Given the description of an element on the screen output the (x, y) to click on. 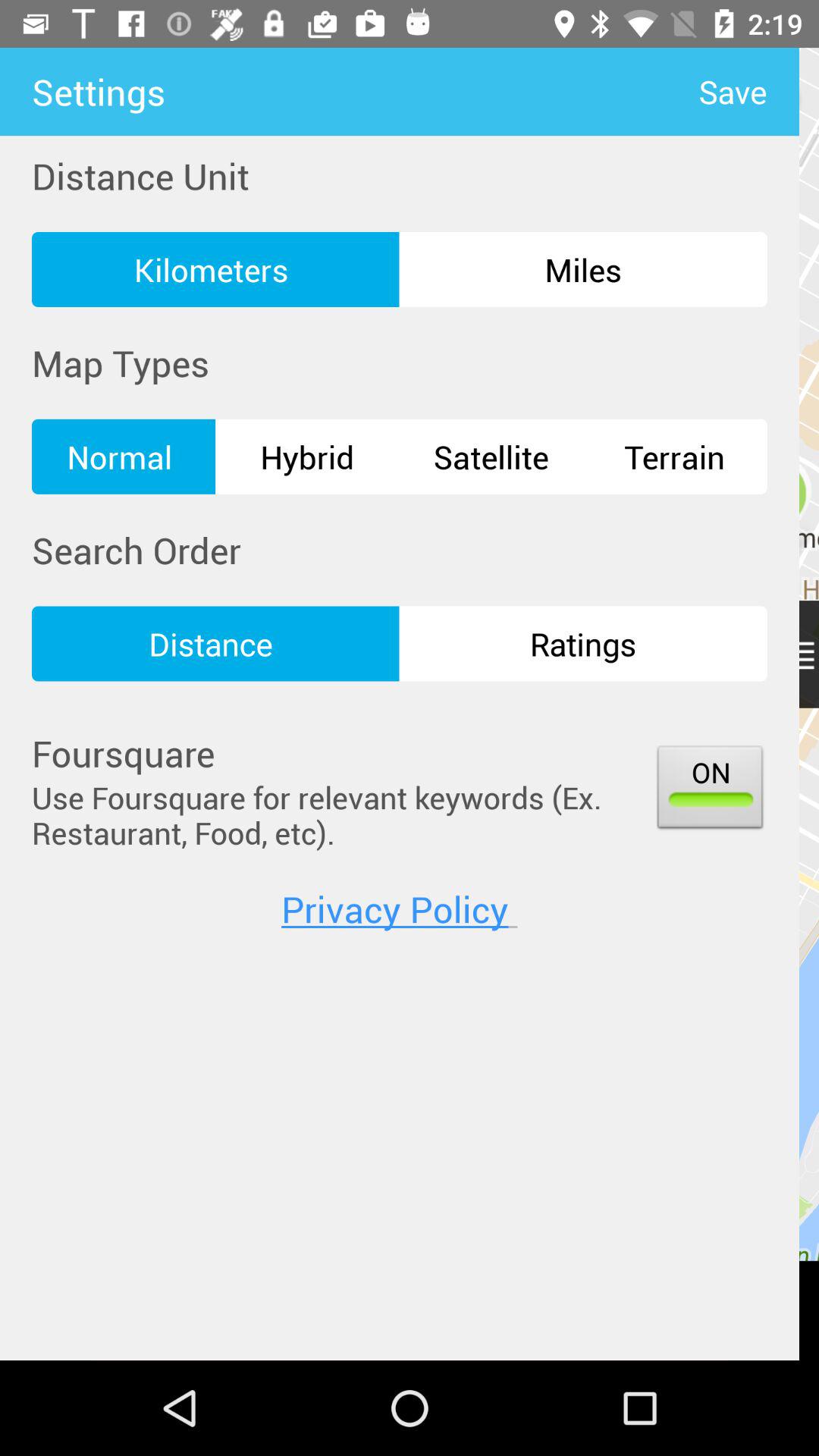
open terrain (674, 456)
